Given the description of an element on the screen output the (x, y) to click on. 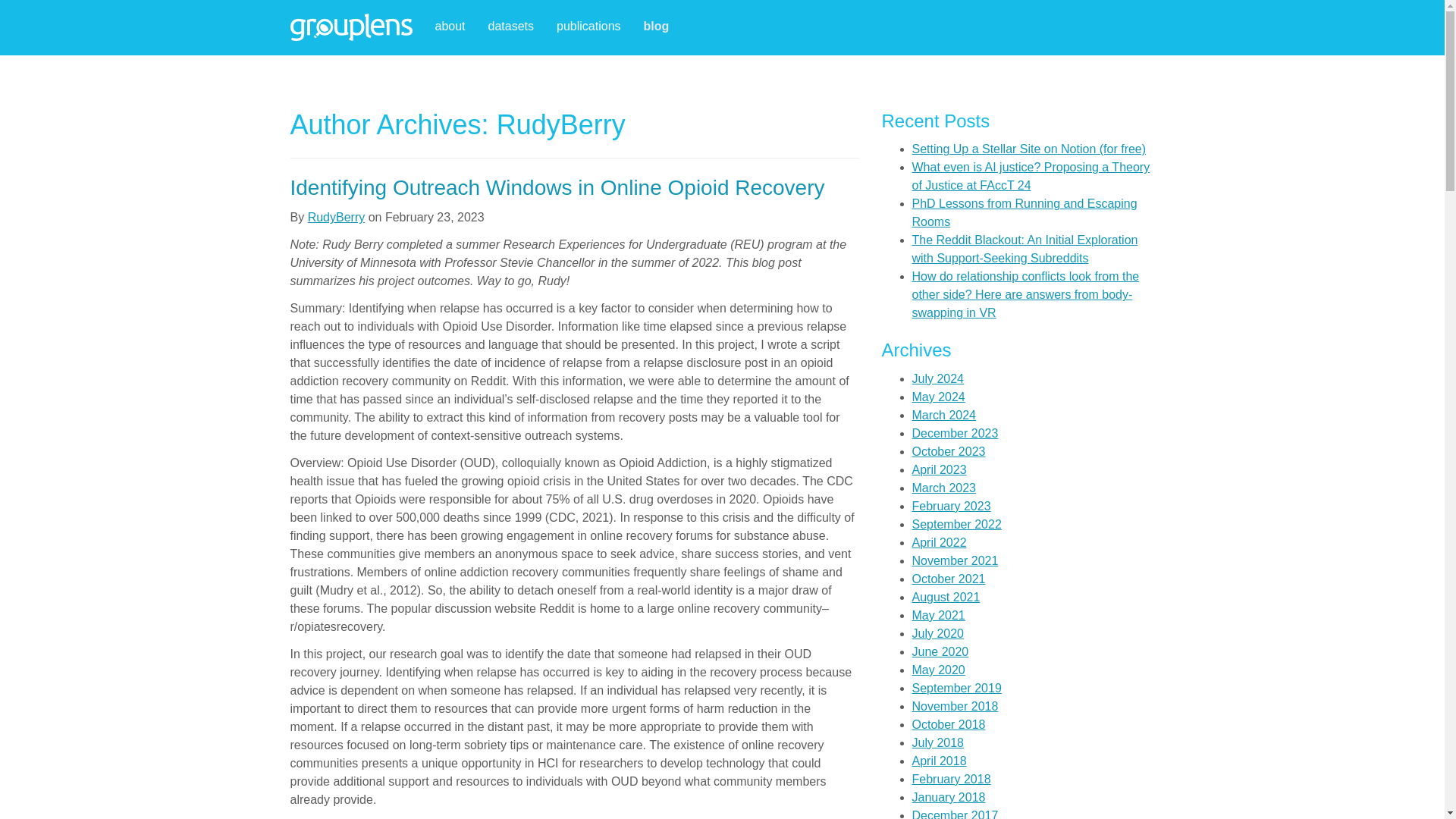
February 2018 (950, 779)
publications (587, 26)
datasets (510, 26)
May 2024 (937, 396)
March 2024 (943, 414)
about (449, 26)
July 2024 (937, 378)
May 2020 (937, 669)
January 2018 (948, 797)
April 2022 (938, 542)
